Given the description of an element on the screen output the (x, y) to click on. 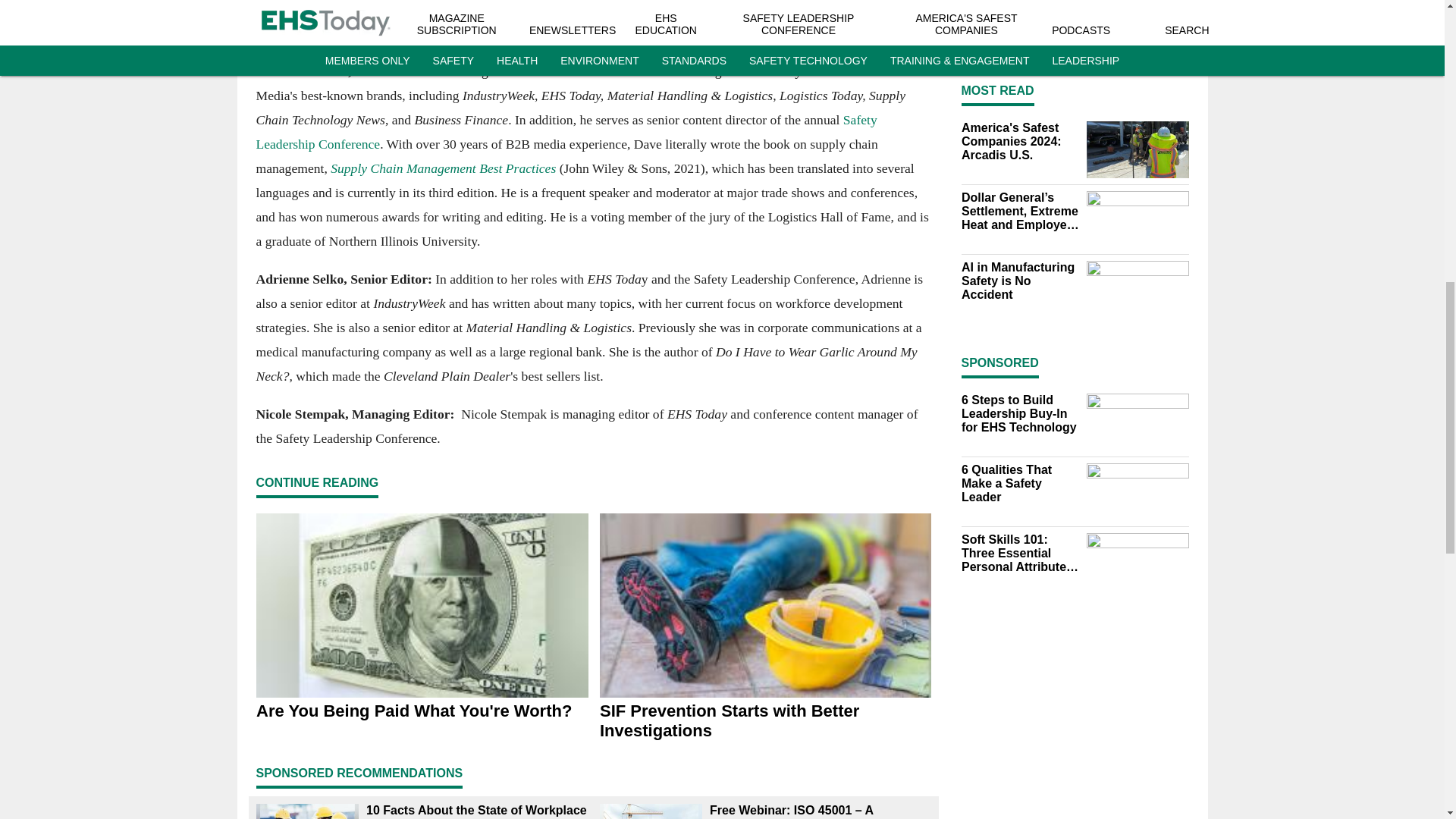
Safety Leadership Conference (566, 131)
Supply Chain Management Best Practices (443, 168)
10 Facts About the State of Workplace Safety in the U.S. (476, 811)
SIF Prevention Starts with Better Investigations (764, 721)
Are You Being Paid What You're Worth? (422, 711)
